Given the description of an element on the screen output the (x, y) to click on. 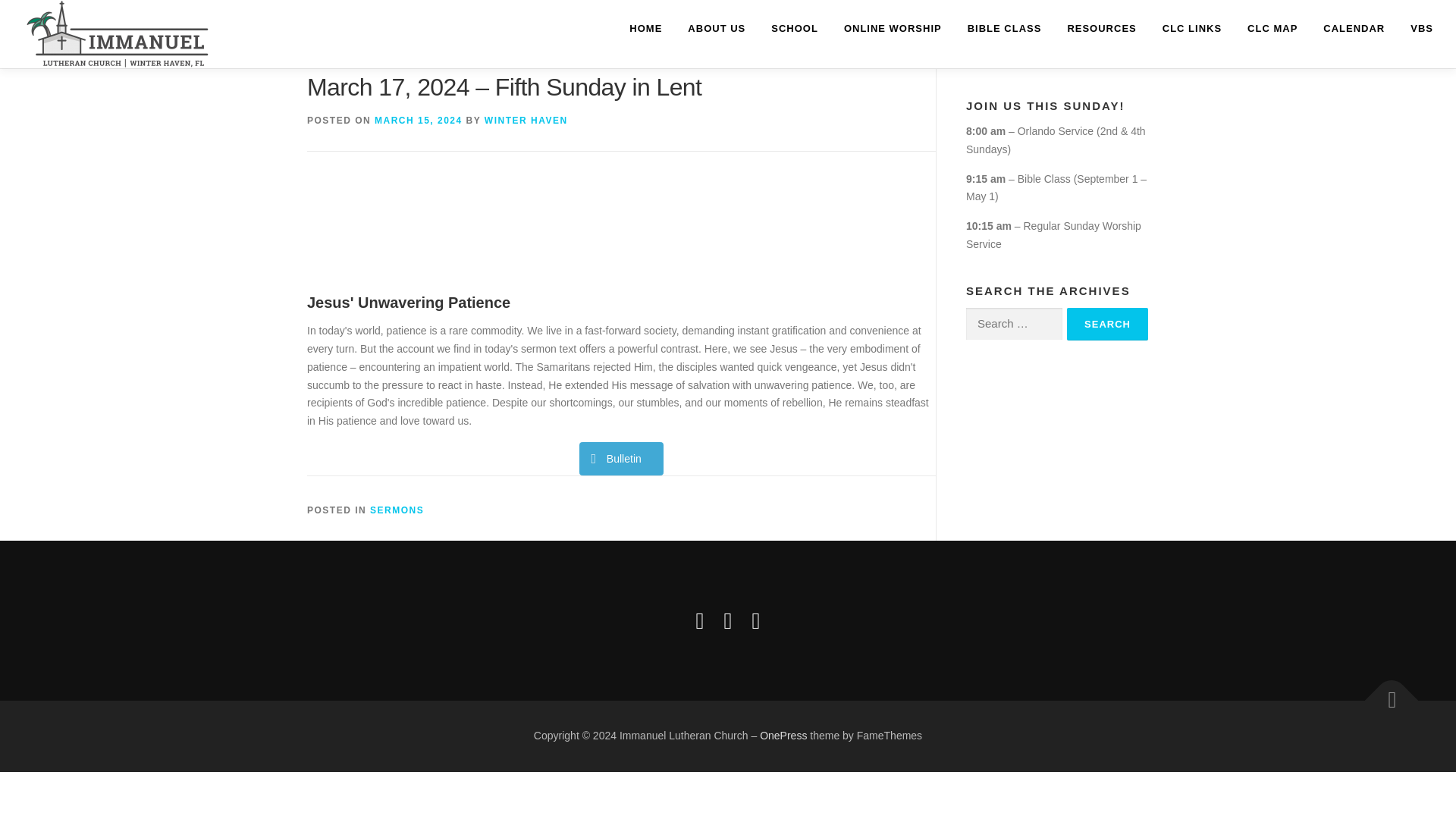
BIBLE CLASS (1004, 28)
OnePress (783, 735)
CLC LINKS (1192, 28)
WINTER HAVEN (525, 120)
VBS (1414, 28)
SERMONS (396, 510)
Search (1107, 323)
RESOURCES (1101, 28)
Facebook (699, 620)
MARCH 15, 2024 (418, 120)
CALENDAR (1353, 28)
Google plus (727, 620)
CLC MAP (1272, 28)
Back To Top (1384, 692)
ABOUT US (716, 28)
